Given the description of an element on the screen output the (x, y) to click on. 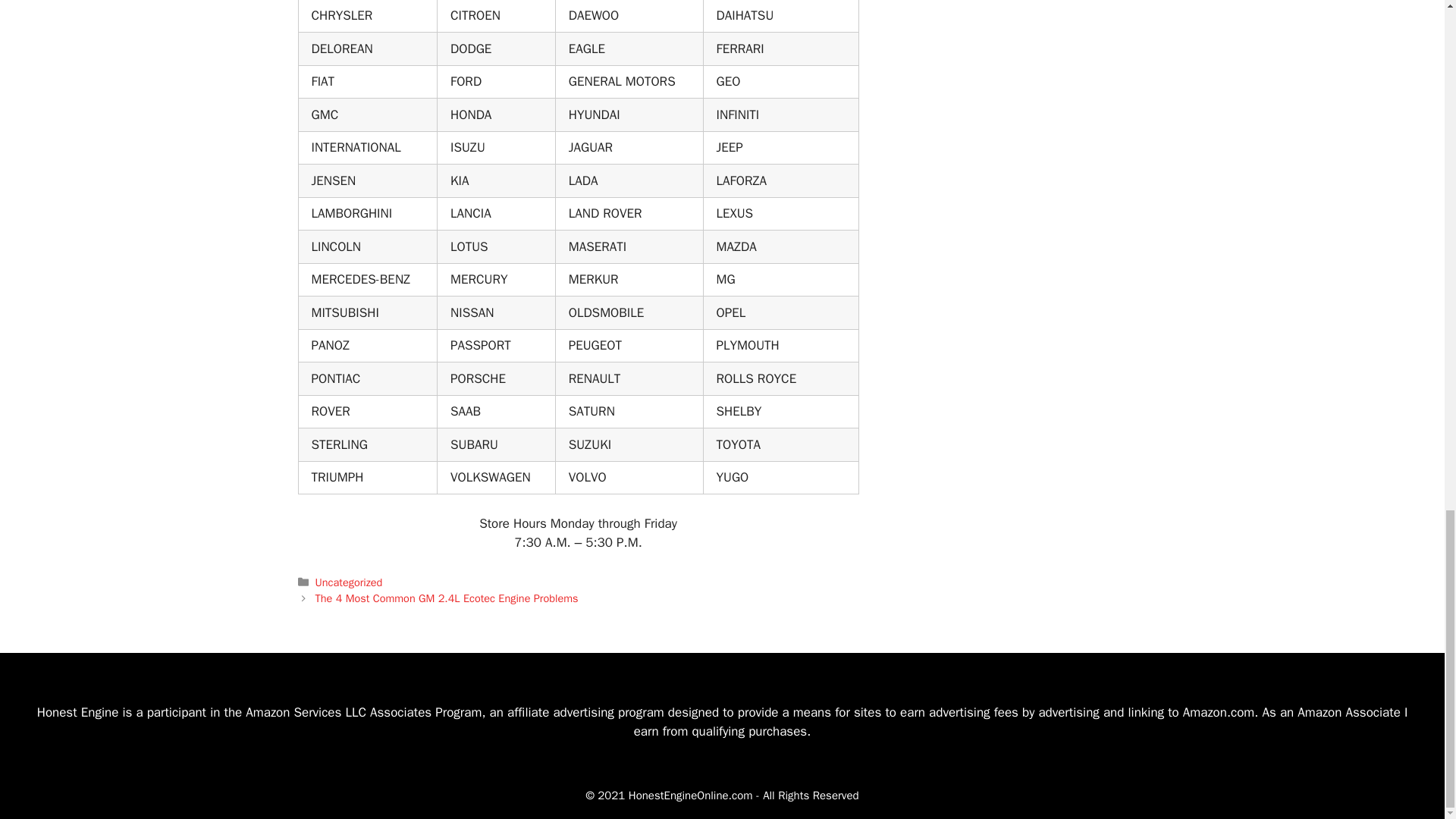
The 4 Most Common GM 2.4L Ecotec Engine Problems (446, 598)
Next (446, 598)
Uncategorized (348, 581)
